Given the description of an element on the screen output the (x, y) to click on. 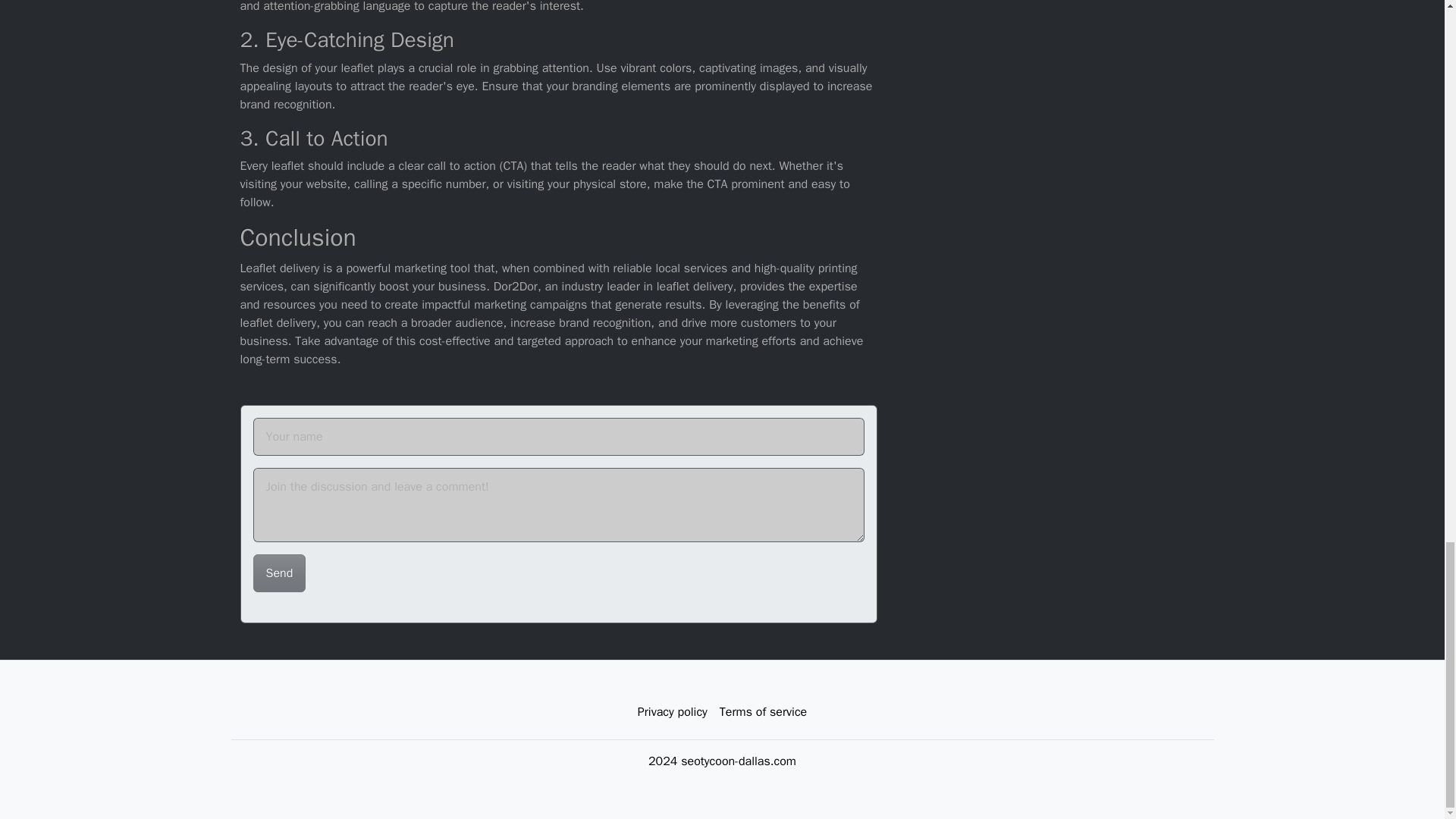
Send (279, 572)
Privacy policy (672, 711)
Send (279, 572)
Terms of service (762, 711)
